Given the description of an element on the screen output the (x, y) to click on. 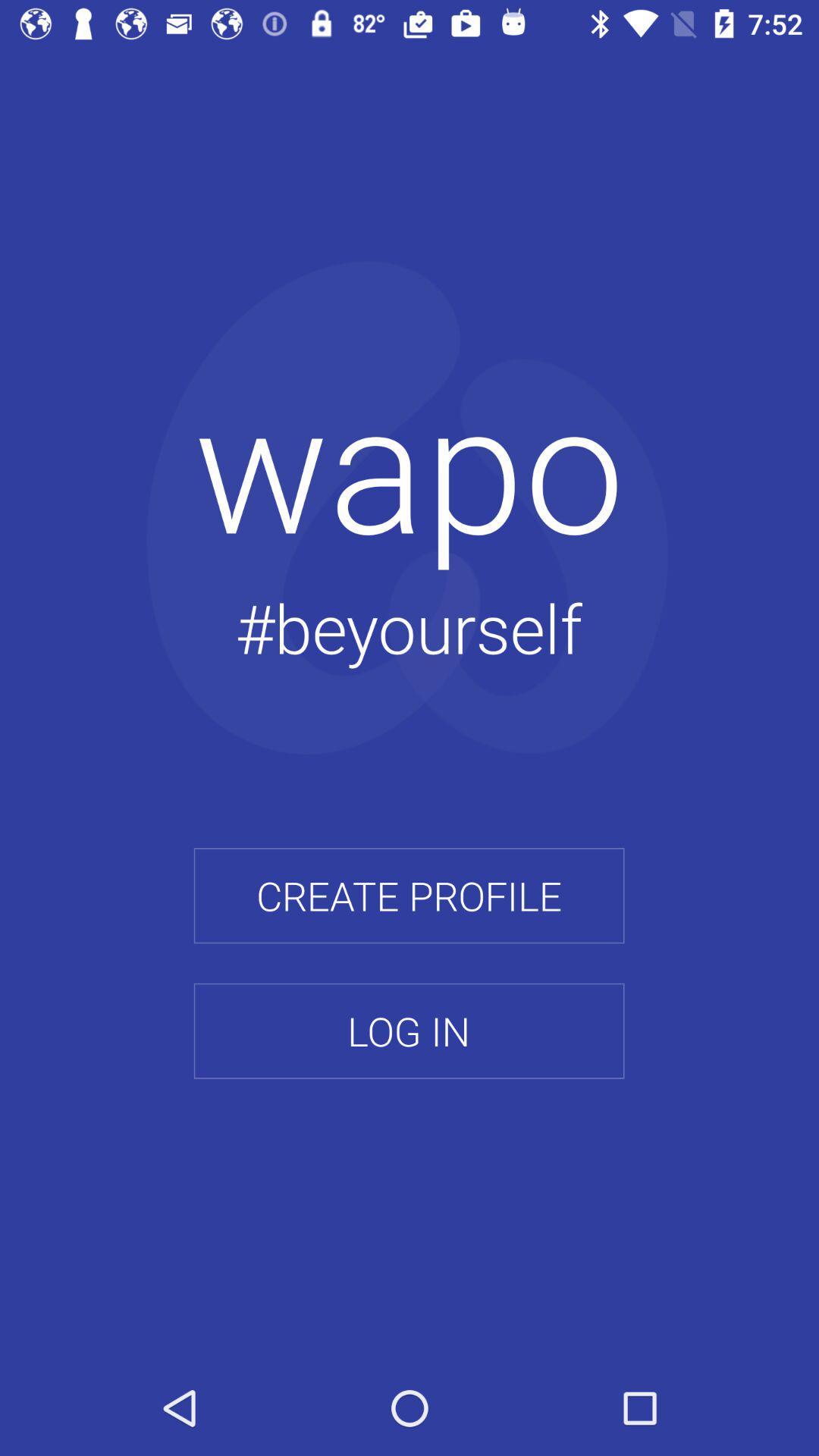
choose icon above log in item (408, 895)
